Given the description of an element on the screen output the (x, y) to click on. 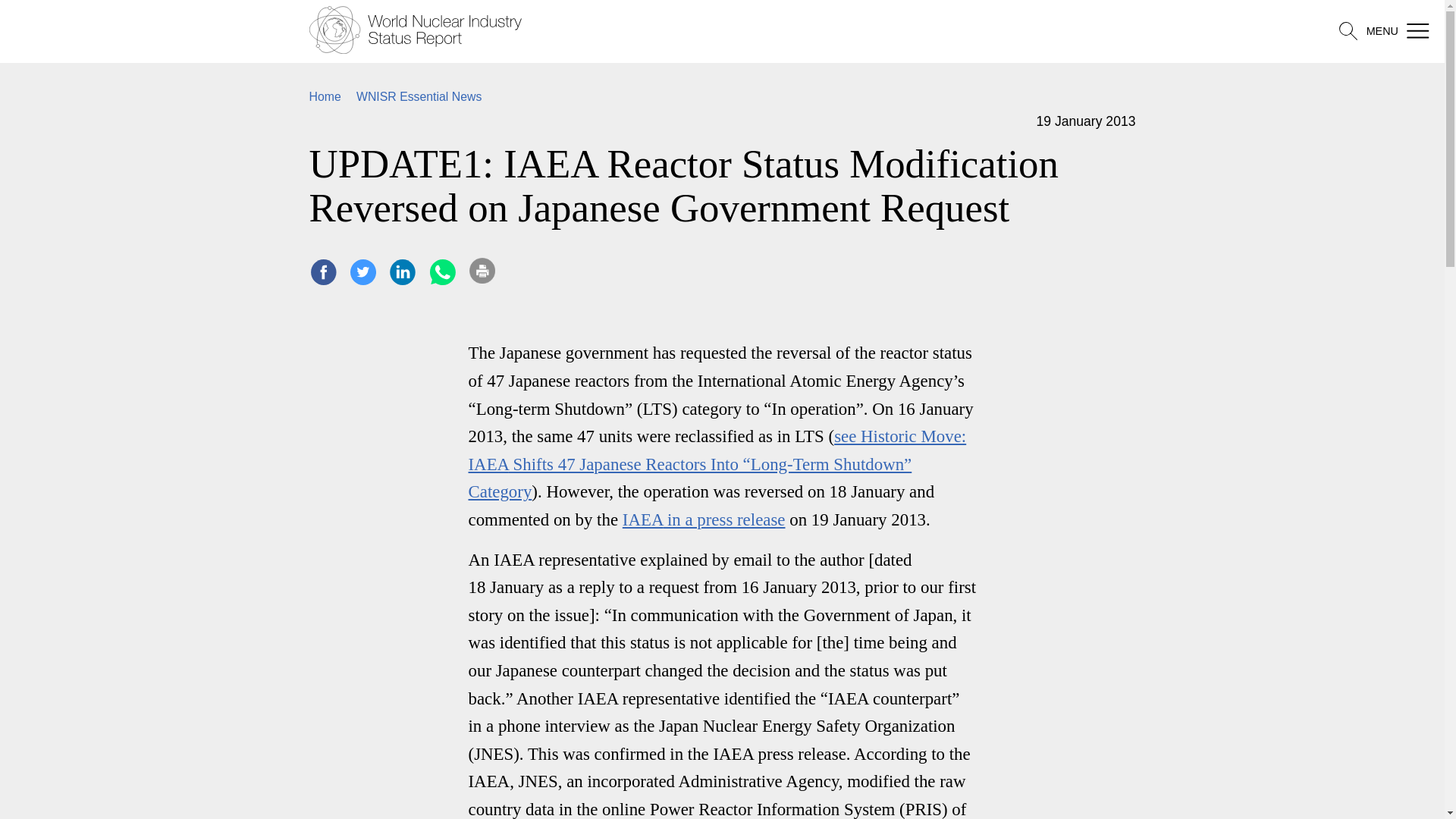
Twitter (363, 271)
Imprimer (481, 270)
Whatsapp (442, 271)
Facebook (322, 271)
Home (324, 96)
WNISR Essential News (418, 96)
LinkedIn (402, 271)
IAEA in a press release (704, 519)
